Given the description of an element on the screen output the (x, y) to click on. 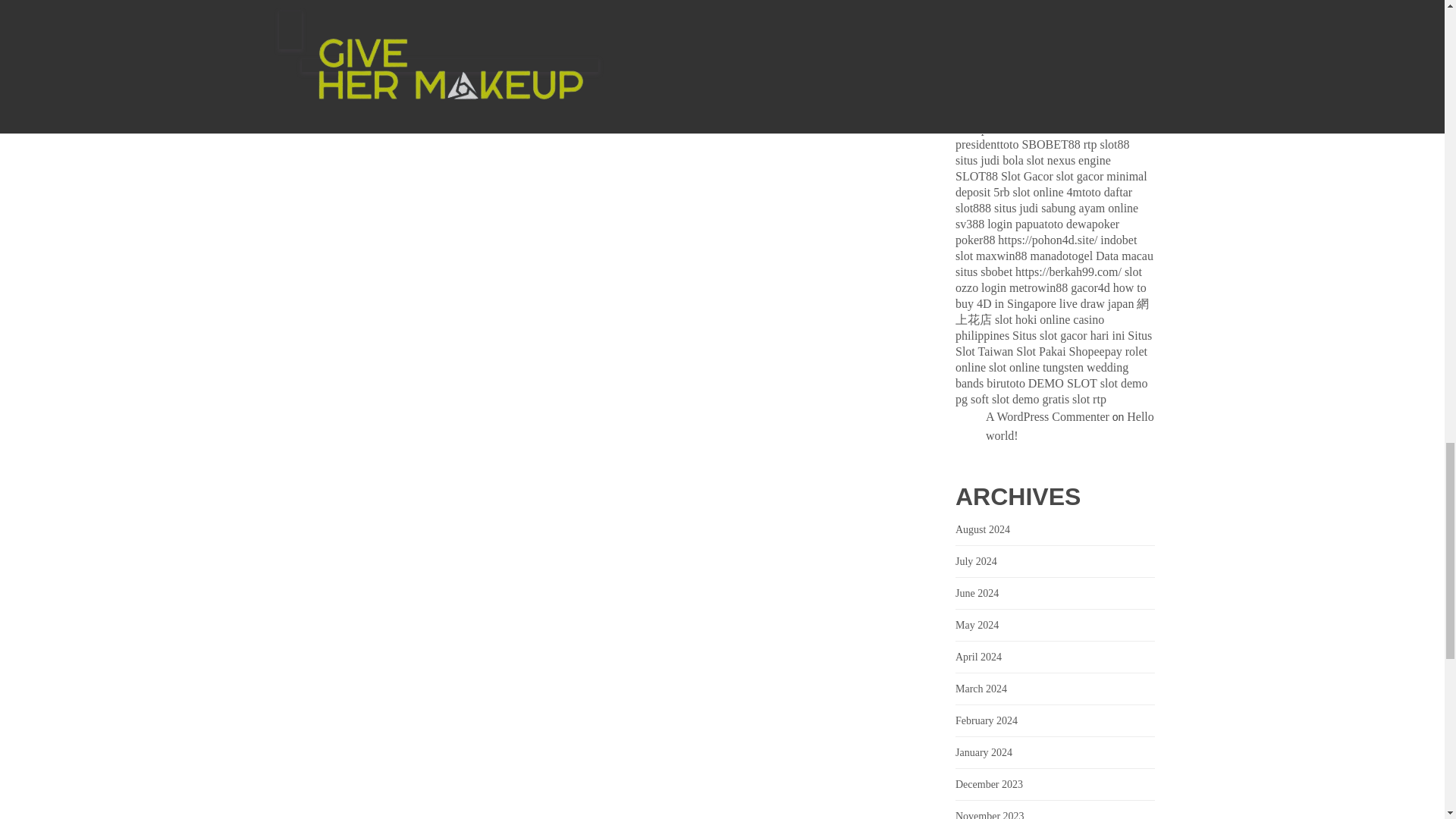
Post Comment (611, 94)
Post Comment (611, 94)
yes (297, 50)
